Given the description of an element on the screen output the (x, y) to click on. 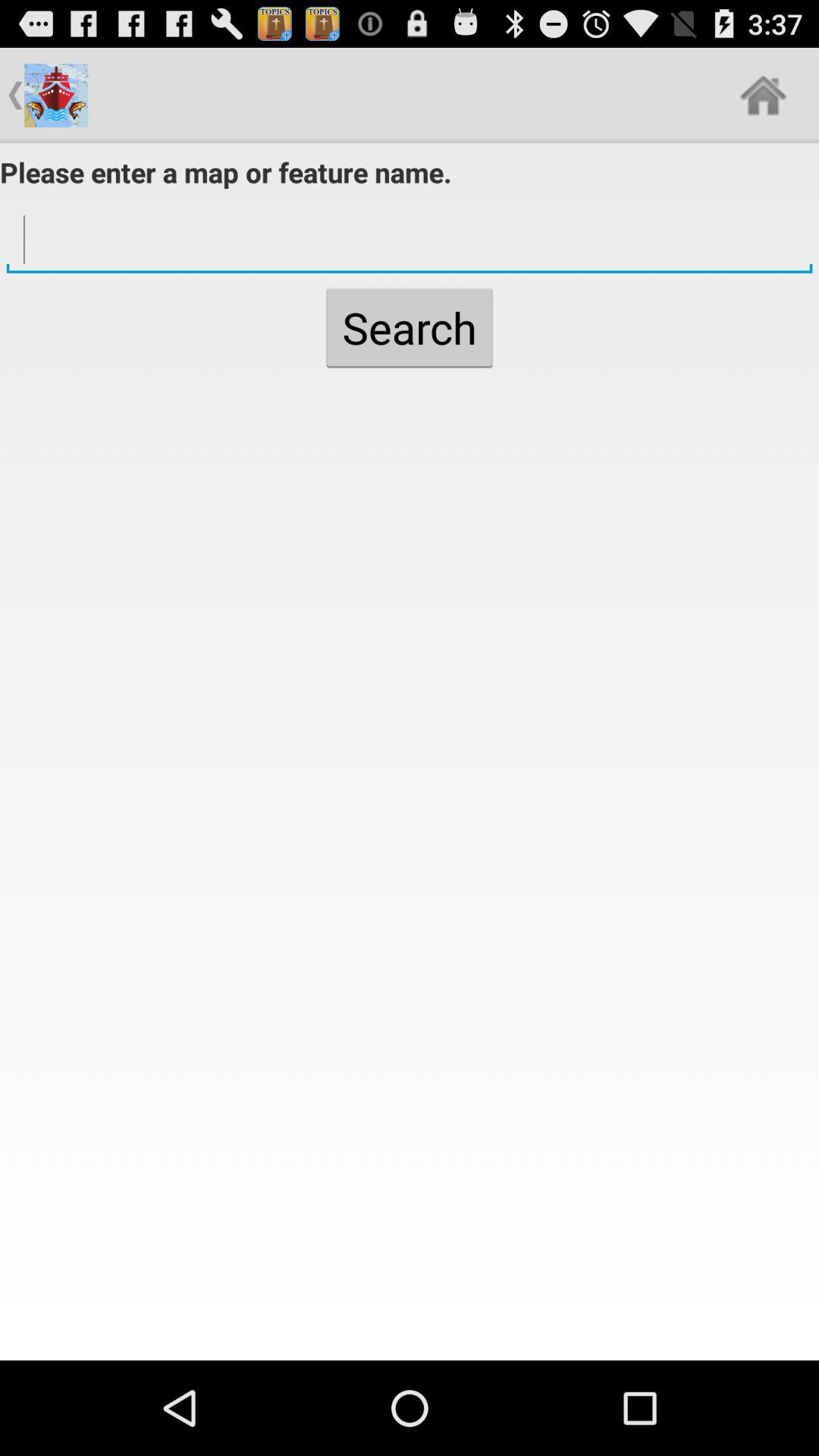
flip until search (409, 327)
